Given the description of an element on the screen output the (x, y) to click on. 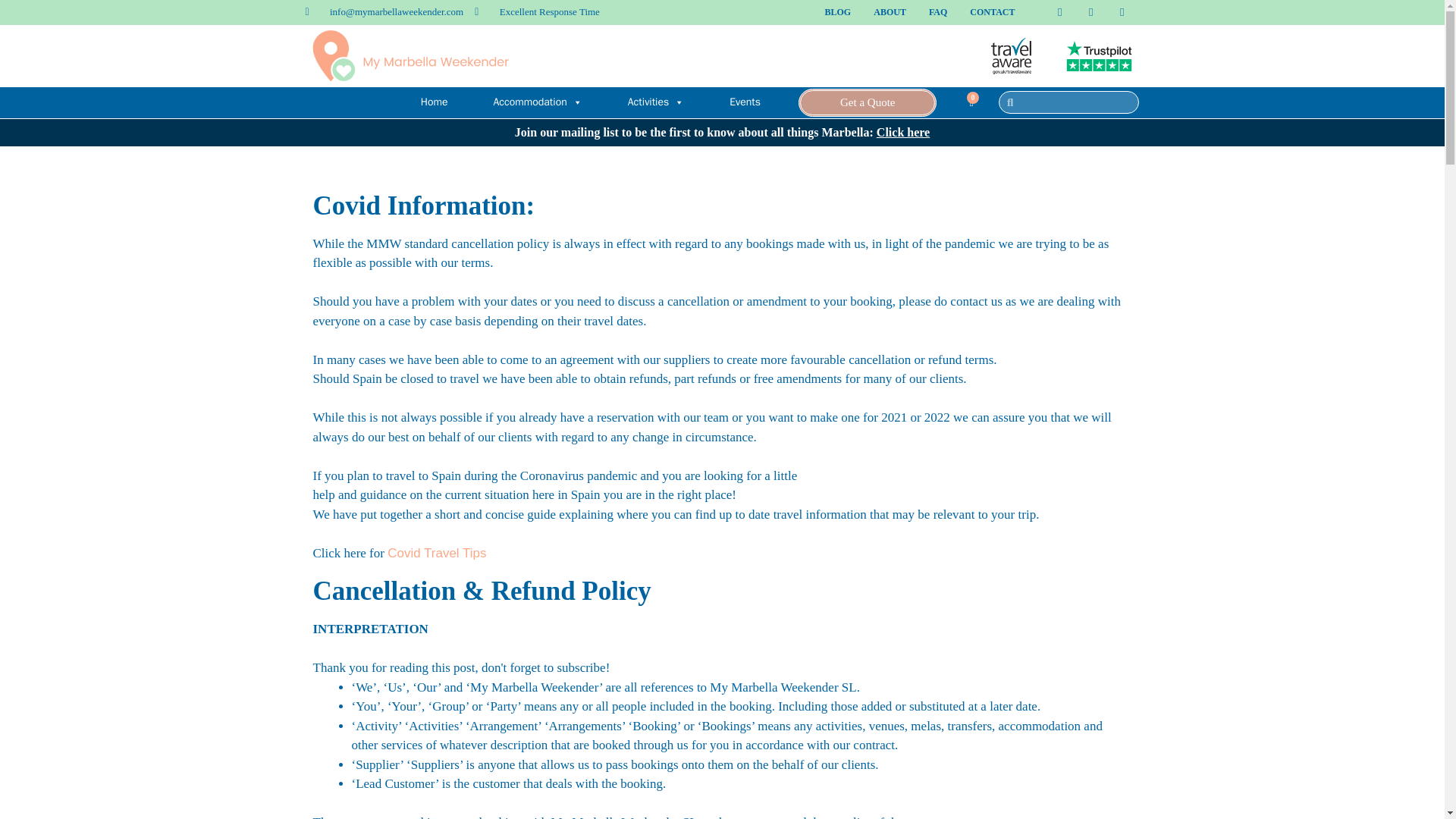
ABOUT (889, 11)
Home (434, 101)
Activities (656, 101)
Events (745, 101)
Accommodation (536, 101)
CONTACT (992, 11)
BLOG (838, 11)
Get a Quote (866, 102)
FAQ (937, 11)
